Given the description of an element on the screen output the (x, y) to click on. 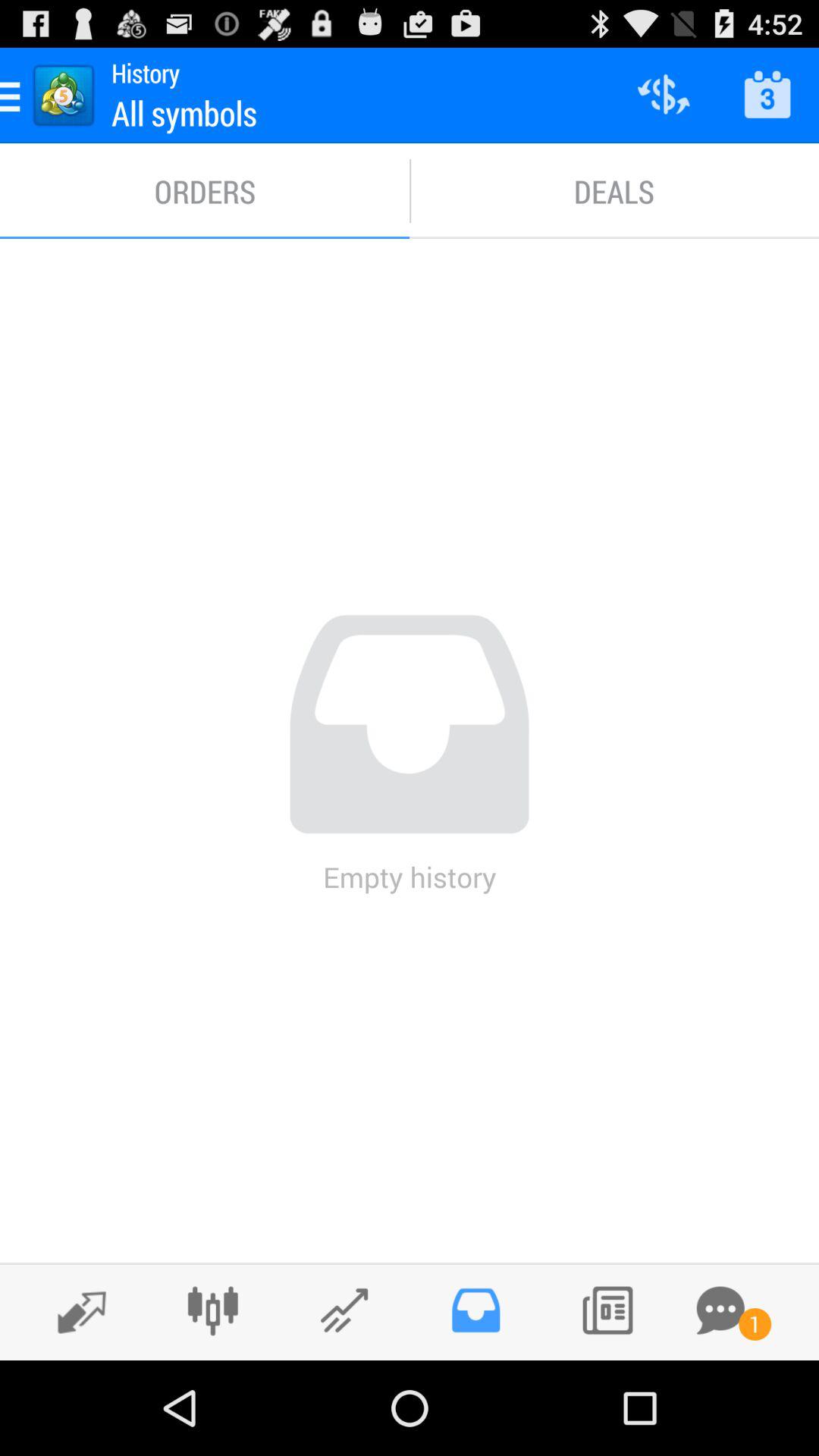
message icon (720, 1310)
